Given the description of an element on the screen output the (x, y) to click on. 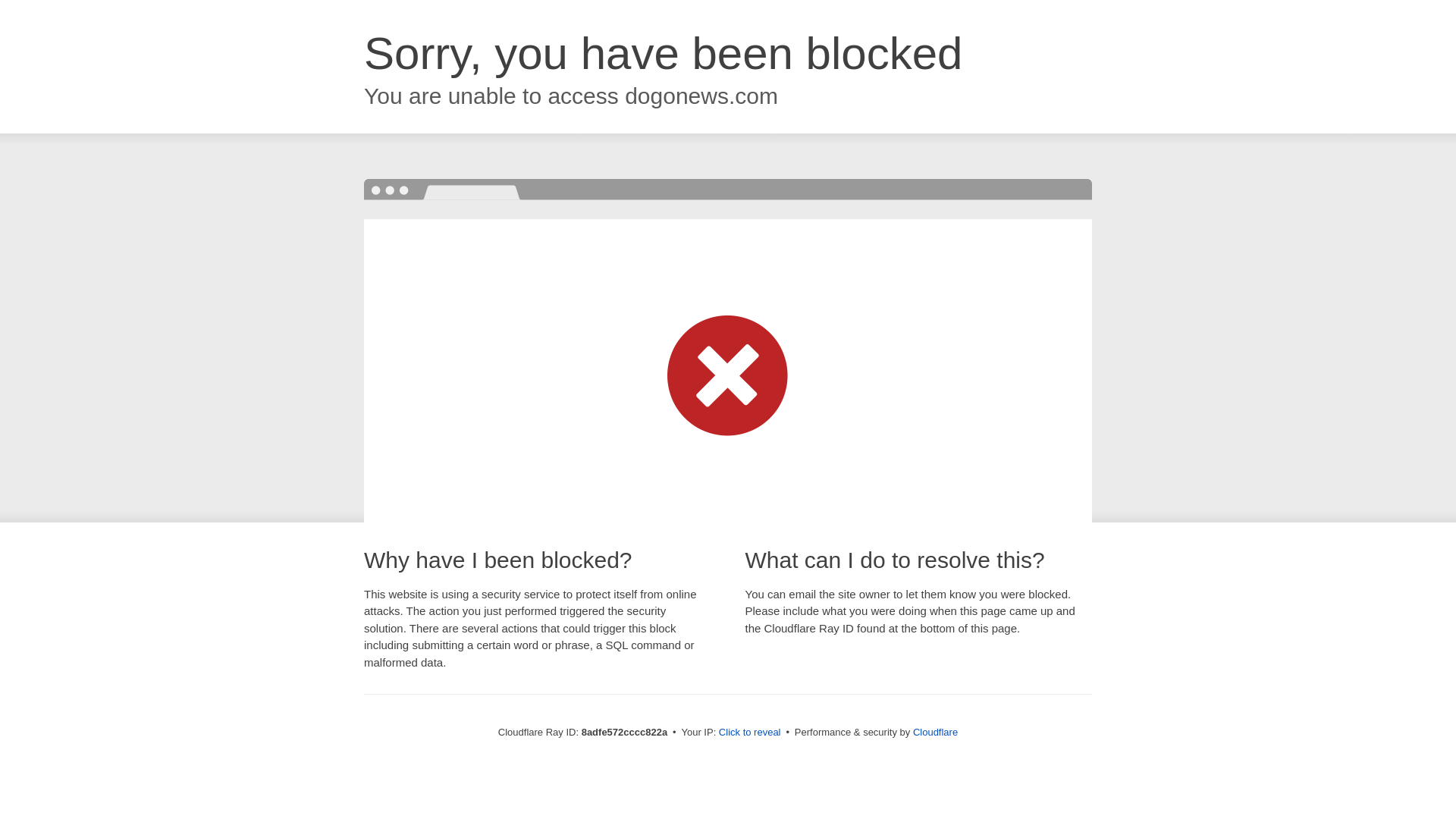
Cloudflare (935, 731)
Click to reveal (749, 732)
